Given the description of an element on the screen output the (x, y) to click on. 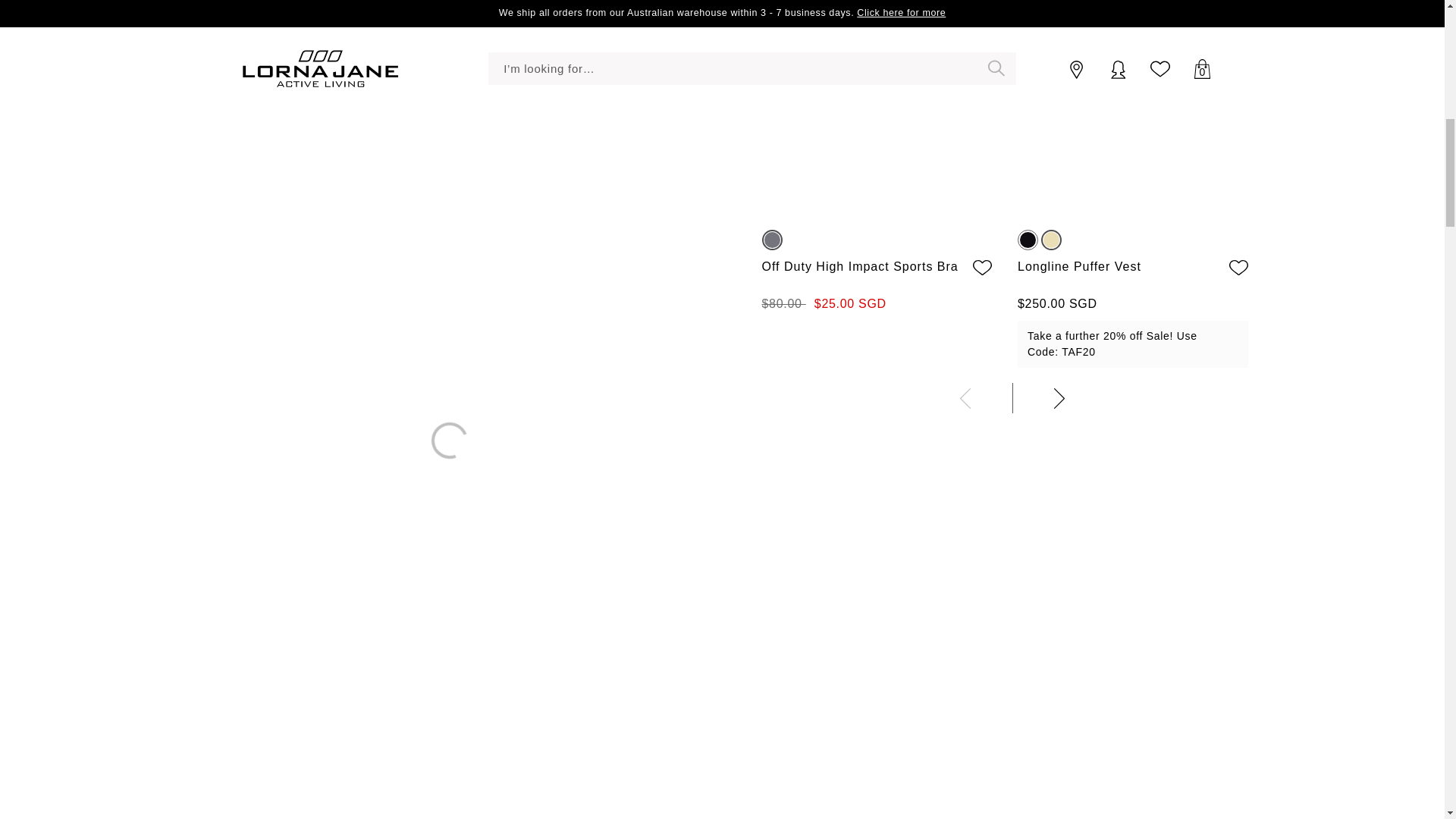
Off Duty Camo Print (771, 240)
Longline Puffer Vest, Off White (1140, 108)
Off Duty High Impact Sports Bra, Off Duty Camo Print (884, 108)
Wishlist (981, 267)
